Given the description of an element on the screen output the (x, y) to click on. 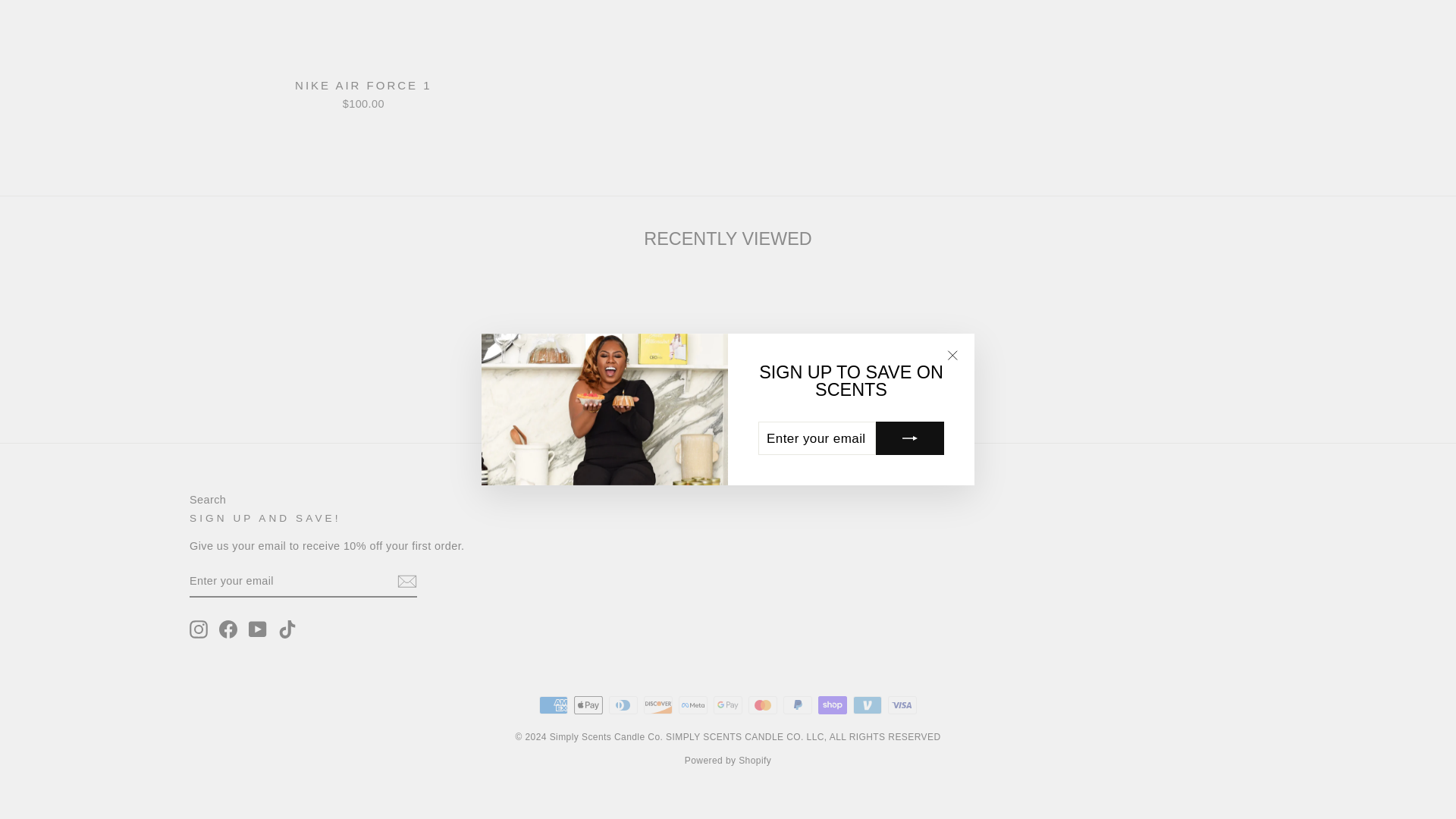
icon-email (406, 581)
Simply Scents Candle Co. on Instagram (198, 628)
Diners Club (622, 705)
ICON-LEFT-ARROW (650, 365)
Apple Pay (587, 705)
Discover (657, 705)
American Express (552, 705)
instagram (198, 628)
Meta Pay (692, 705)
